Given the description of an element on the screen output the (x, y) to click on. 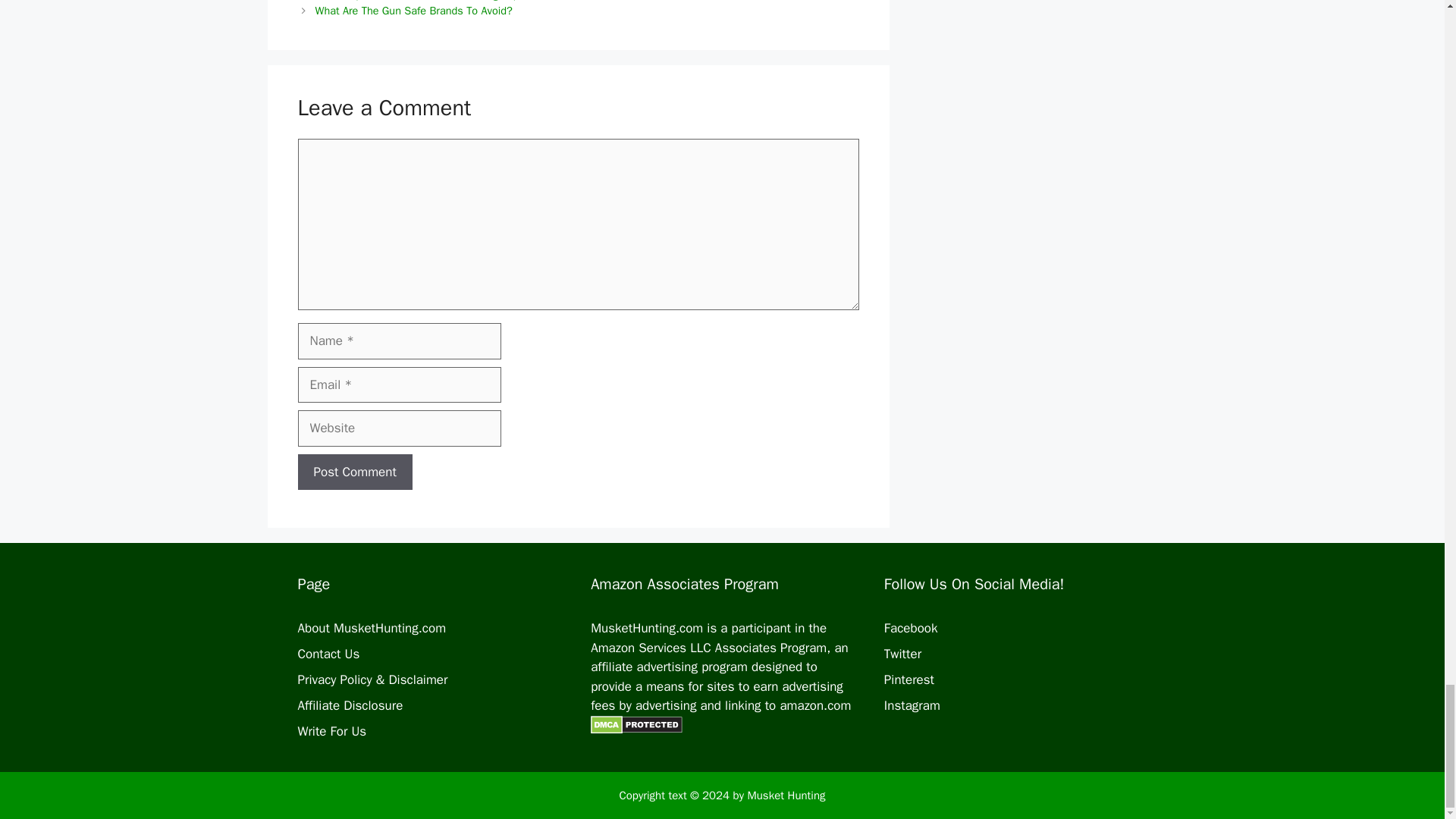
DMCA.com Protection Status (720, 741)
What Are The Gun Safe Brands To Avoid? (413, 10)
Post Comment (354, 472)
Post Comment (354, 472)
